Given the description of an element on the screen output the (x, y) to click on. 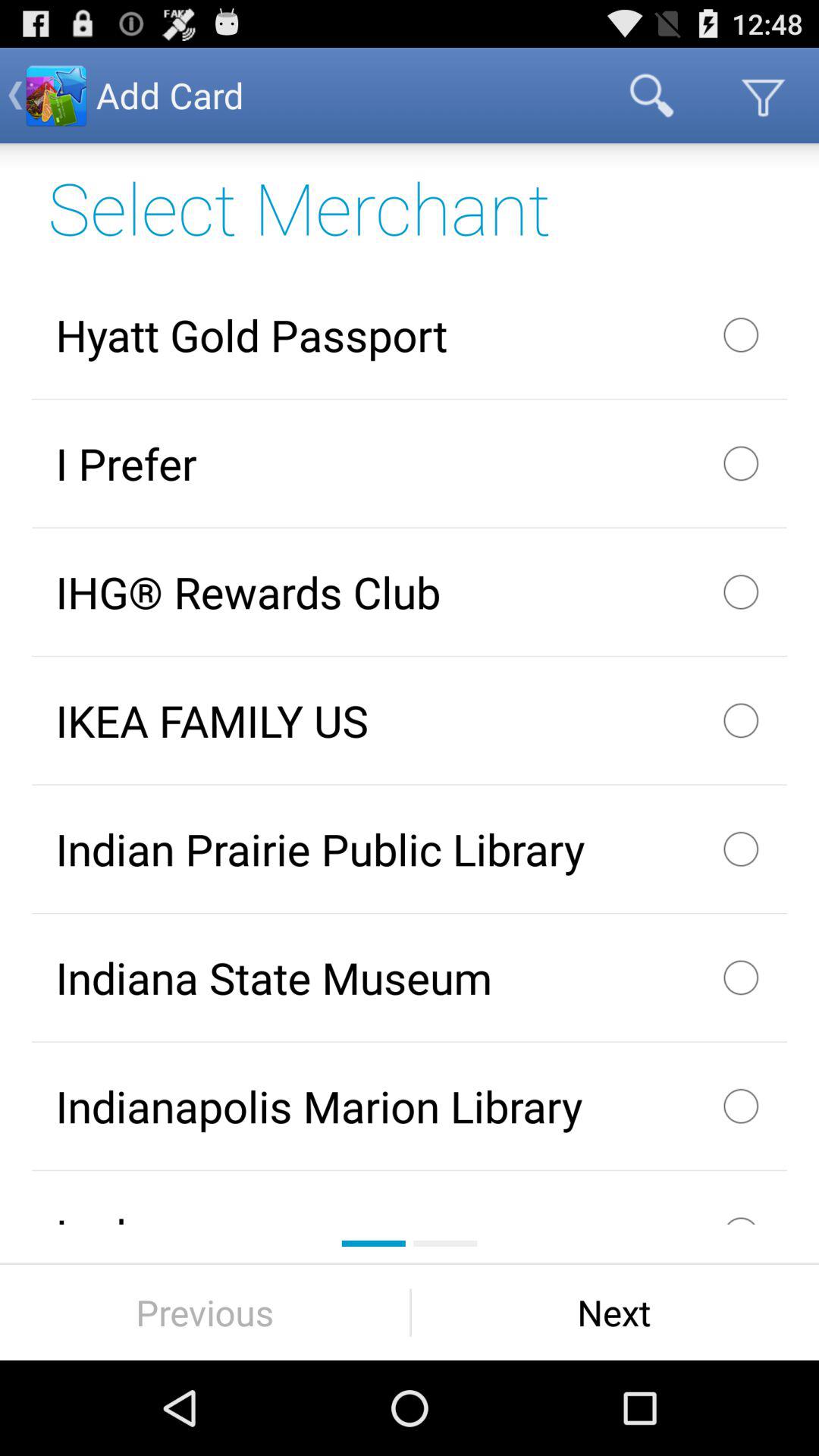
launch icon above indian prairie public icon (409, 720)
